Given the description of an element on the screen output the (x, y) to click on. 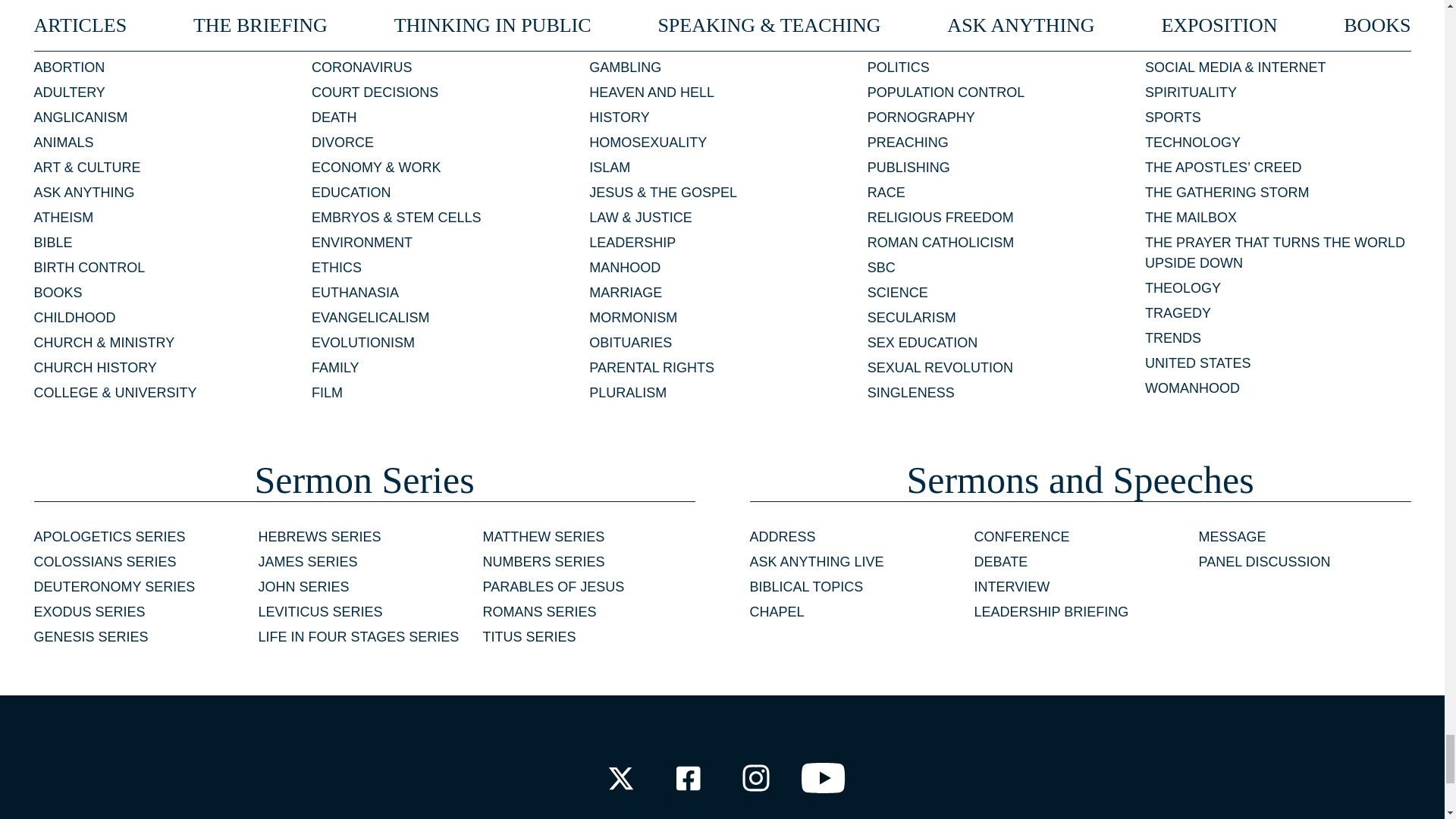
Check out our Youtube Channel (822, 777)
Check out our Facebook Profile (687, 777)
Check out our Instagram Profile (755, 777)
Check out our X Profile (620, 777)
